Given the description of an element on the screen output the (x, y) to click on. 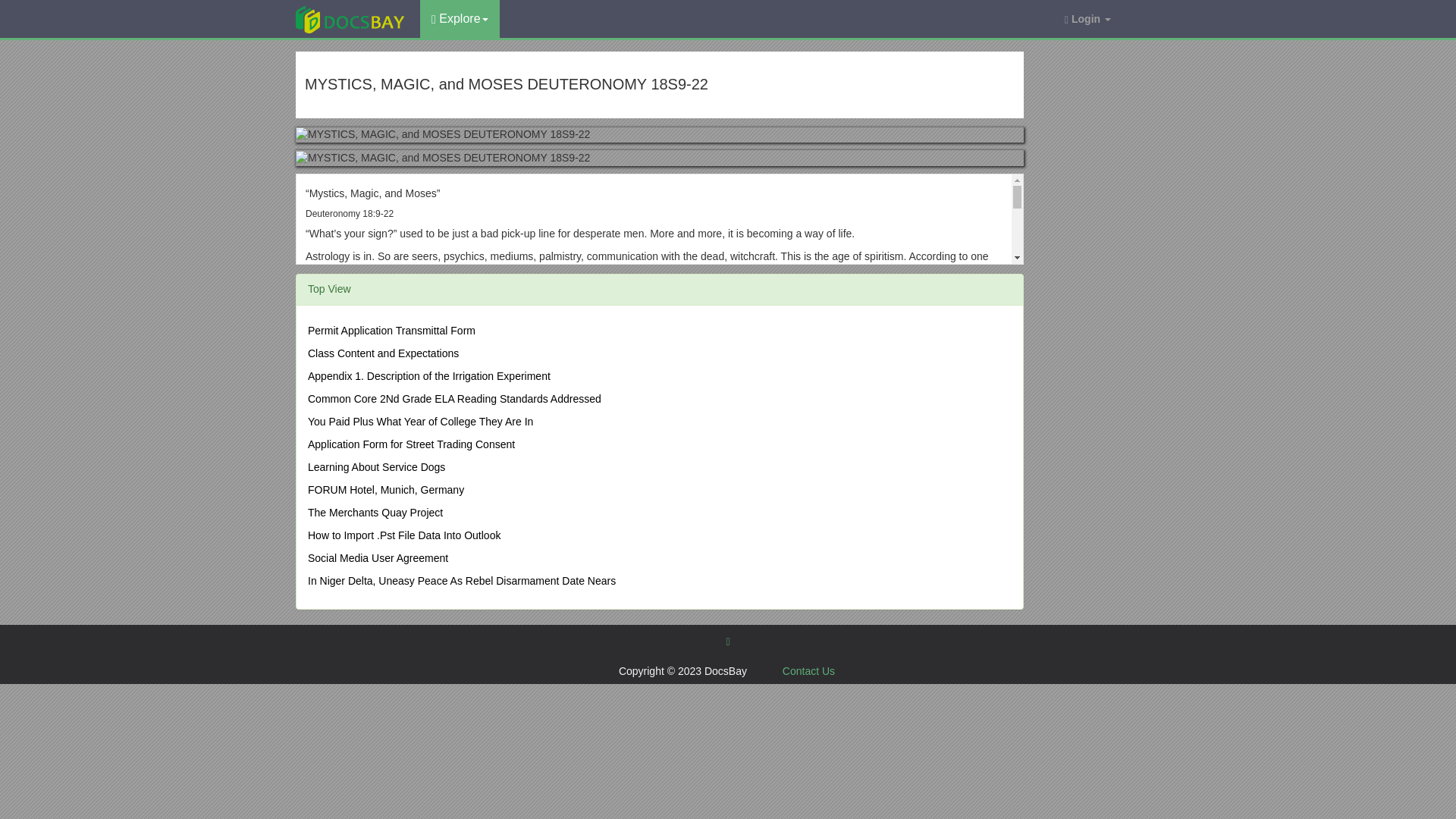
Learning About Service Dogs (376, 467)
How to Import .Pst File Data Into Outlook (403, 535)
Contact Us (808, 671)
In Niger Delta, Uneasy Peace As Rebel Disarmament Date Nears (461, 580)
Explore (459, 18)
Permit Application Transmittal Form (391, 330)
Class Content and Expectations (382, 353)
FORUM Hotel, Munich, Germany (385, 490)
Appendix 1. Description of the Irrigation Experiment (428, 376)
The Merchants Quay Project (374, 512)
